Given the description of an element on the screen output the (x, y) to click on. 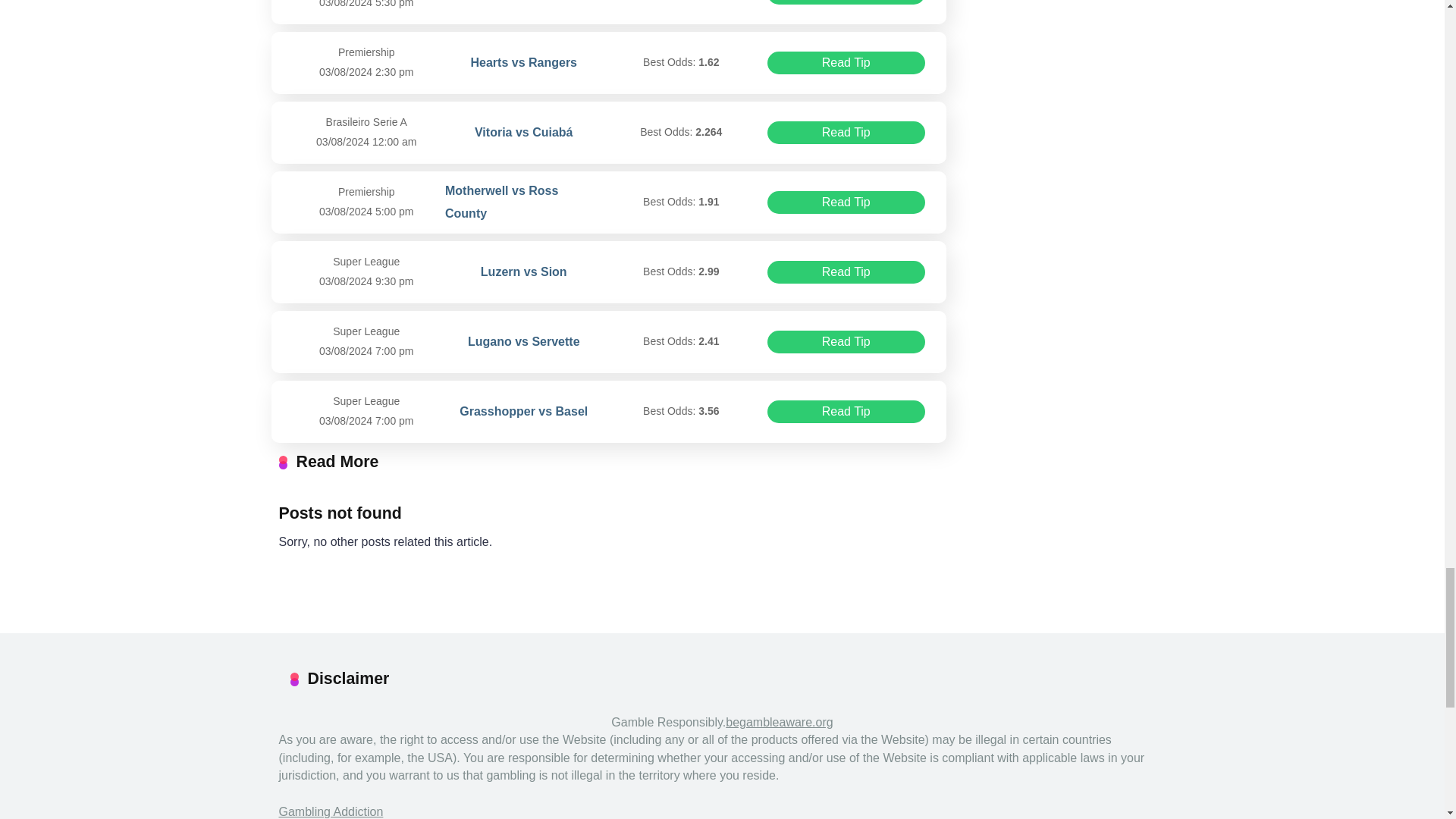
Read Tip (845, 201)
Read Tip (845, 341)
Read Tip (845, 411)
Read Tip (845, 62)
Read Tip (845, 132)
Read Tip (845, 2)
Read Tip (845, 272)
